Given the description of an element on the screen output the (x, y) to click on. 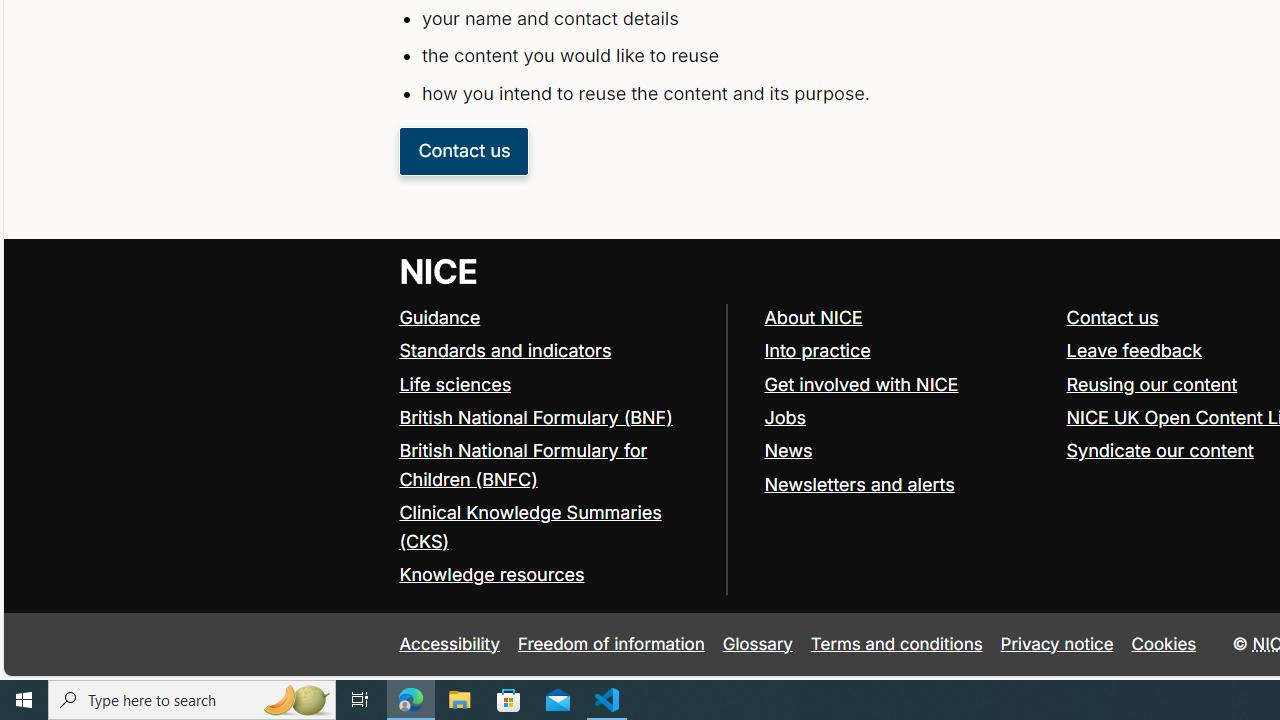
Jobs (785, 416)
Get involved with NICE (861, 383)
Freedom of information (611, 644)
Cookies (1163, 644)
Reusing our content (1151, 383)
Terms and conditions (896, 644)
British National Formulary for Children (BNFC) (554, 466)
Guidance (440, 317)
About NICE (813, 317)
Get involved with NICE (906, 385)
Knowledge resources (554, 575)
Go to NICE home page (439, 270)
Guidance (554, 317)
your name and contact details (796, 18)
